Given the description of an element on the screen output the (x, y) to click on. 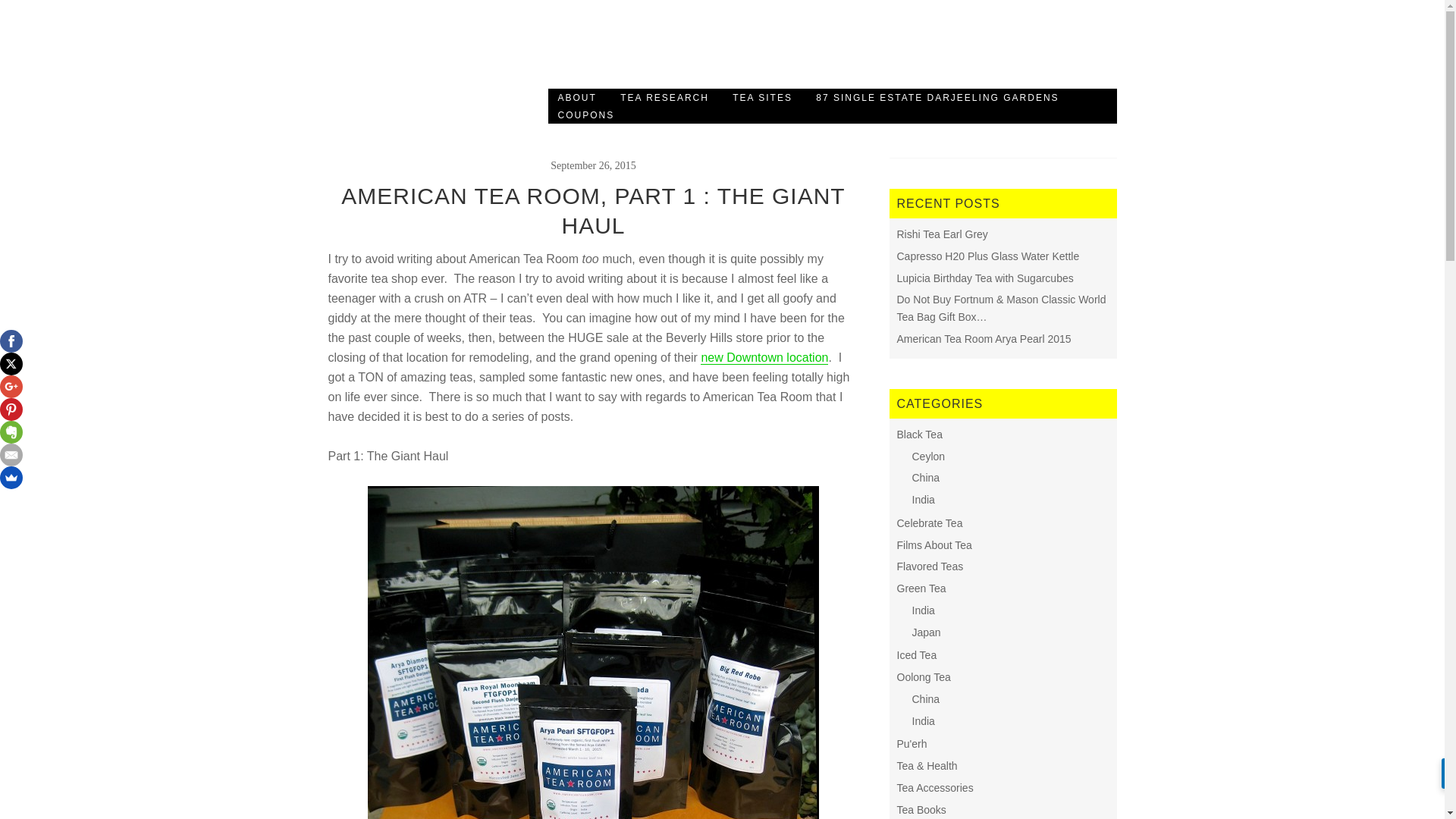
Email (11, 454)
TEA SITES (762, 97)
new Downtown location (764, 357)
87 SINGLE ESTATE DARJEELING GARDENS (937, 97)
X (11, 363)
Rishi Tea Earl Grey (941, 234)
ABOUT (576, 97)
Ceylon (927, 456)
TEA IS MY NAME (386, 60)
Capresso H20 Plus Glass Water Kettle (987, 256)
COUPONS (585, 114)
SumoMe (11, 477)
TEA RESEARCH (664, 97)
Black Tea (919, 434)
Advertisement (840, 49)
